Given the description of an element on the screen output the (x, y) to click on. 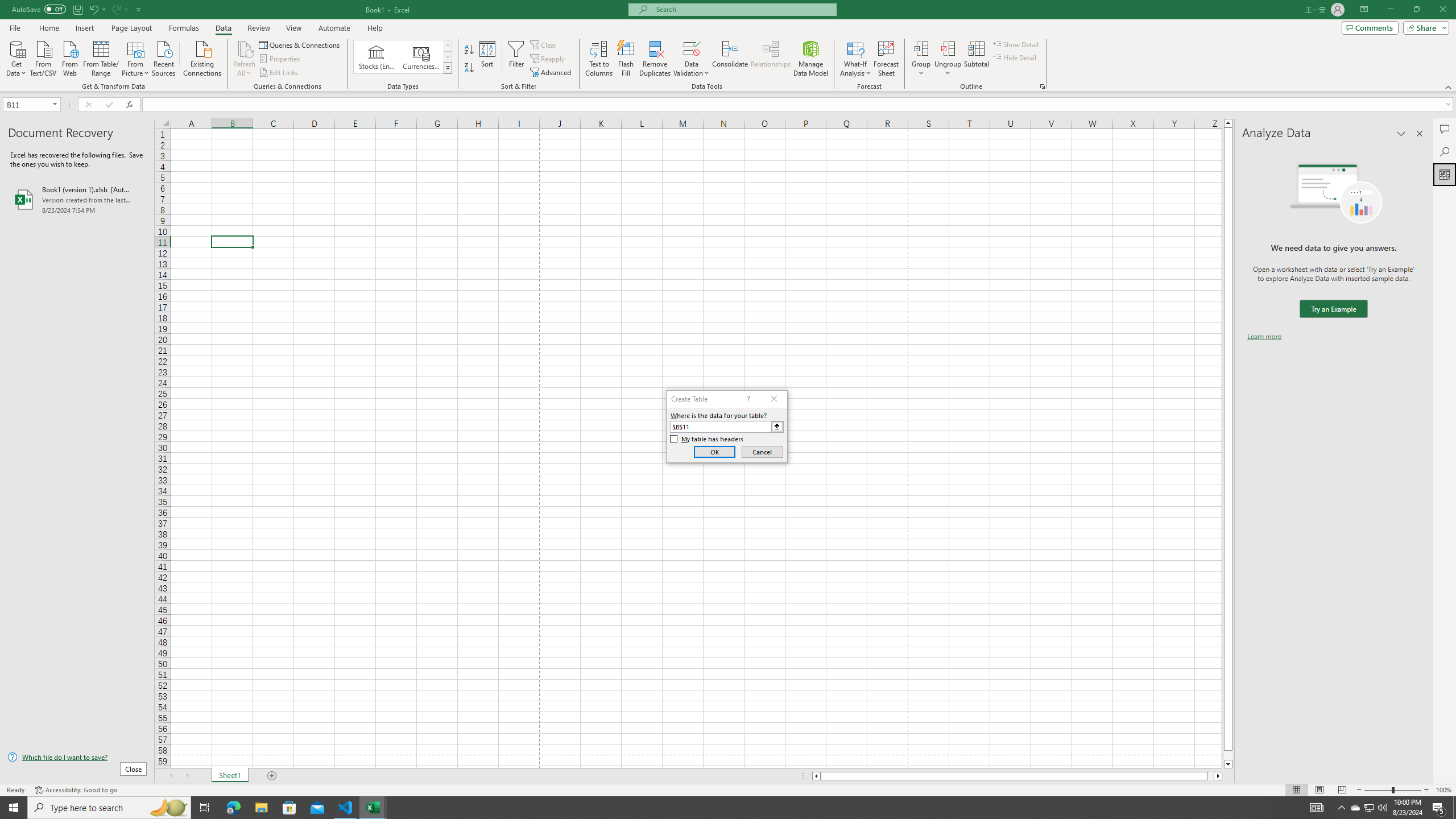
Properties (280, 58)
Redo (115, 9)
AutoSave (38, 9)
Manage Data Model (810, 58)
Ungroup... (947, 58)
Subtotal (976, 58)
Name Box (30, 104)
Class: NetUIScrollBar (1016, 775)
Flash Fill (625, 58)
Clear (544, 44)
Class: NetUIImage (447, 68)
Collapse the Ribbon (1448, 86)
Undo (96, 9)
Currencies (English) (420, 56)
